Given the description of an element on the screen output the (x, y) to click on. 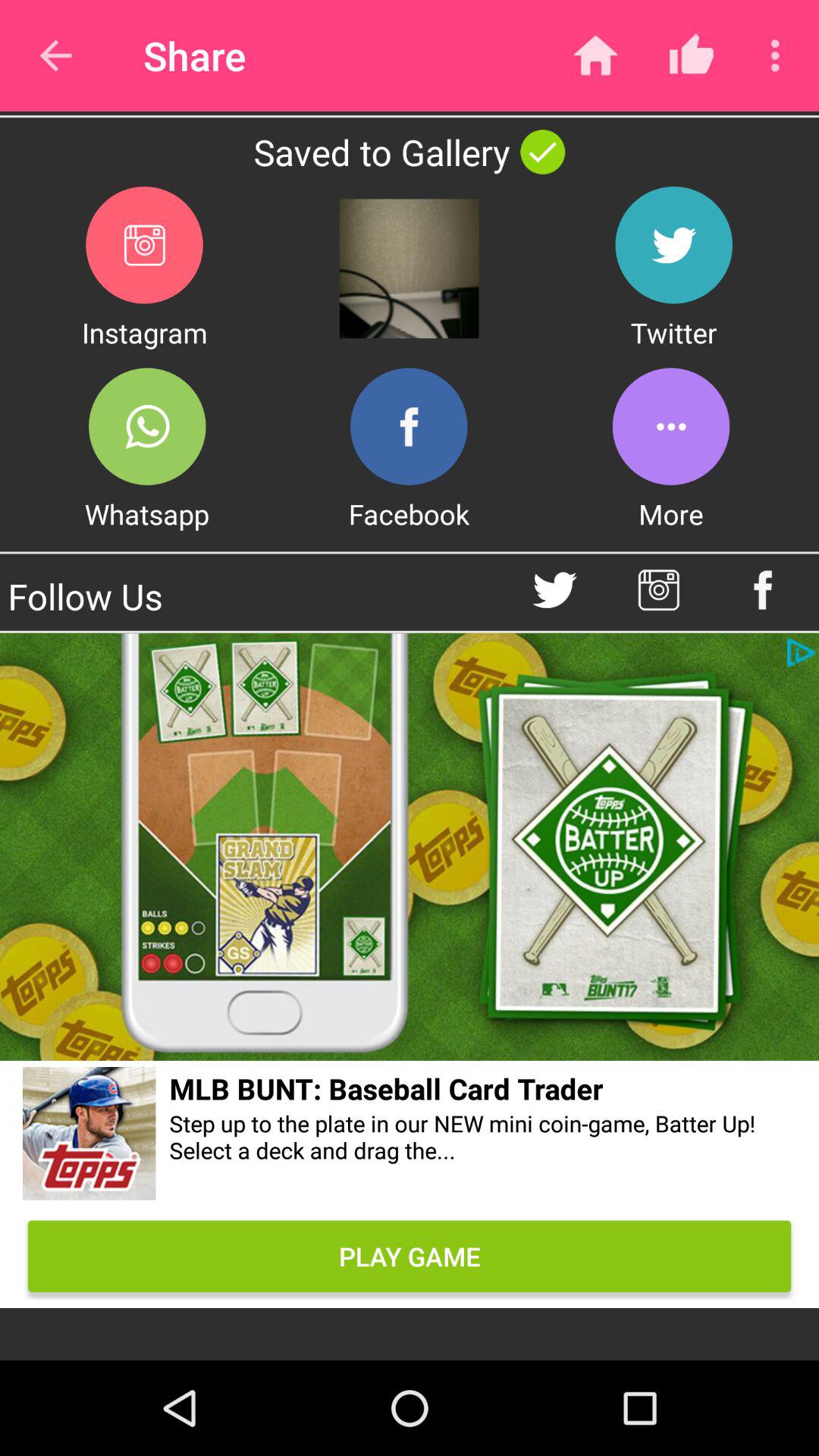
follow on instagram (658, 589)
